Given the description of an element on the screen output the (x, y) to click on. 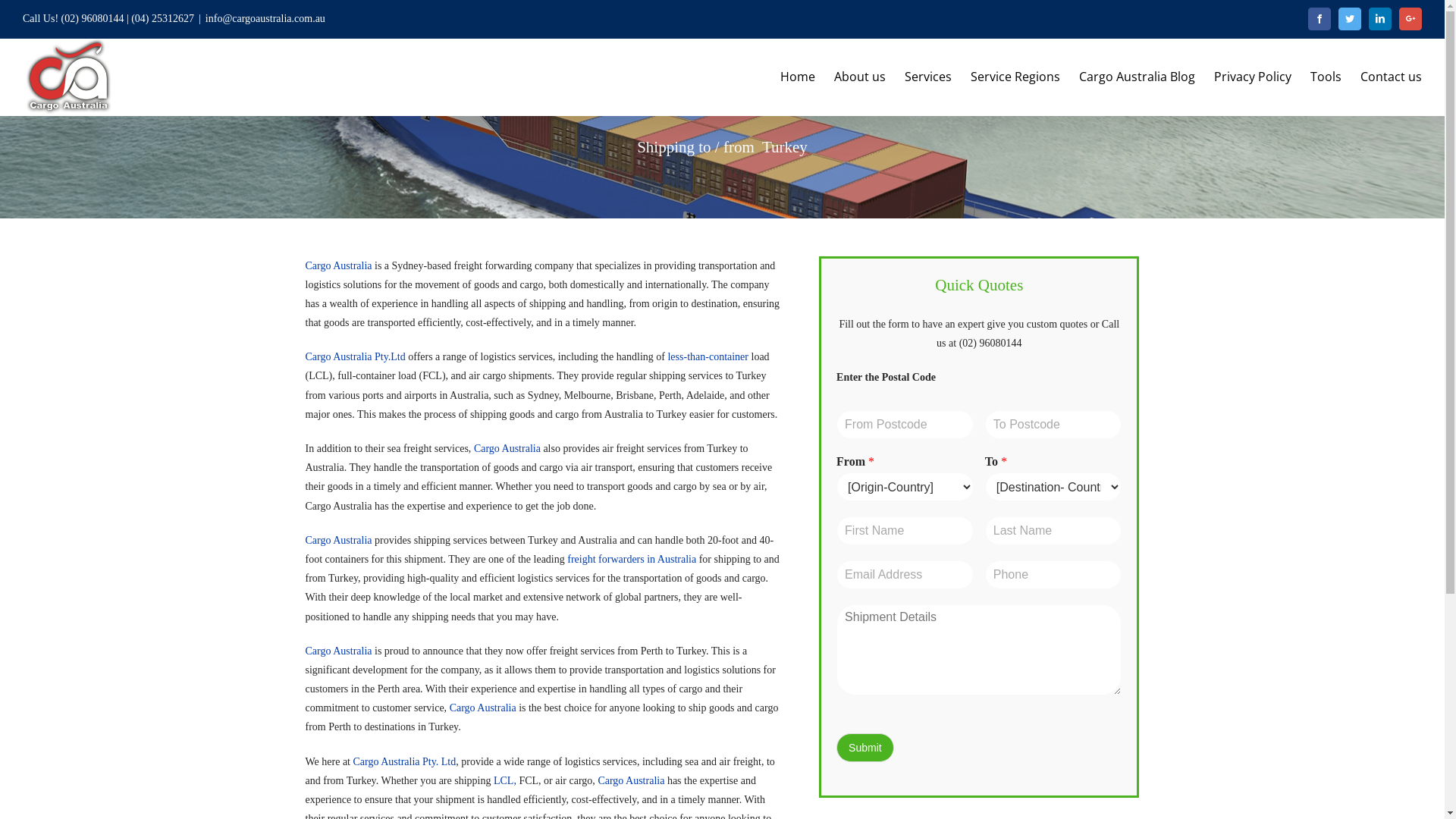
Home Element type: text (797, 76)
Submit Element type: text (865, 747)
Cargo Australia Element type: text (337, 540)
LCL, Element type: text (504, 780)
Googleplus Element type: text (1410, 18)
Cargo Australia Pty. Ltd Element type: text (404, 761)
Cargo Australia Element type: text (630, 780)
Cargo Australia Element type: text (337, 650)
Facebook Element type: text (1319, 18)
Cargo Australia Element type: text (337, 264)
Cargo Australia Element type: text (482, 707)
Service Regions Element type: text (1015, 76)
Twitter Element type: text (1349, 18)
Cargo Australia Pty.Ltd Element type: text (354, 356)
info@cargoaustralia.com.au Element type: text (265, 18)
Privacy Policy Element type: text (1252, 76)
Cargo Australia Element type: text (506, 448)
Tools Element type: text (1325, 76)
Linkedin Element type: text (1379, 18)
less-than-container Element type: text (708, 356)
Contact us Element type: text (1390, 76)
freight forwarders in Australia Element type: text (631, 558)
Cargo Australia Blog Element type: text (1137, 76)
About us Element type: text (859, 76)
Services Element type: text (927, 76)
